Given the description of an element on the screen output the (x, y) to click on. 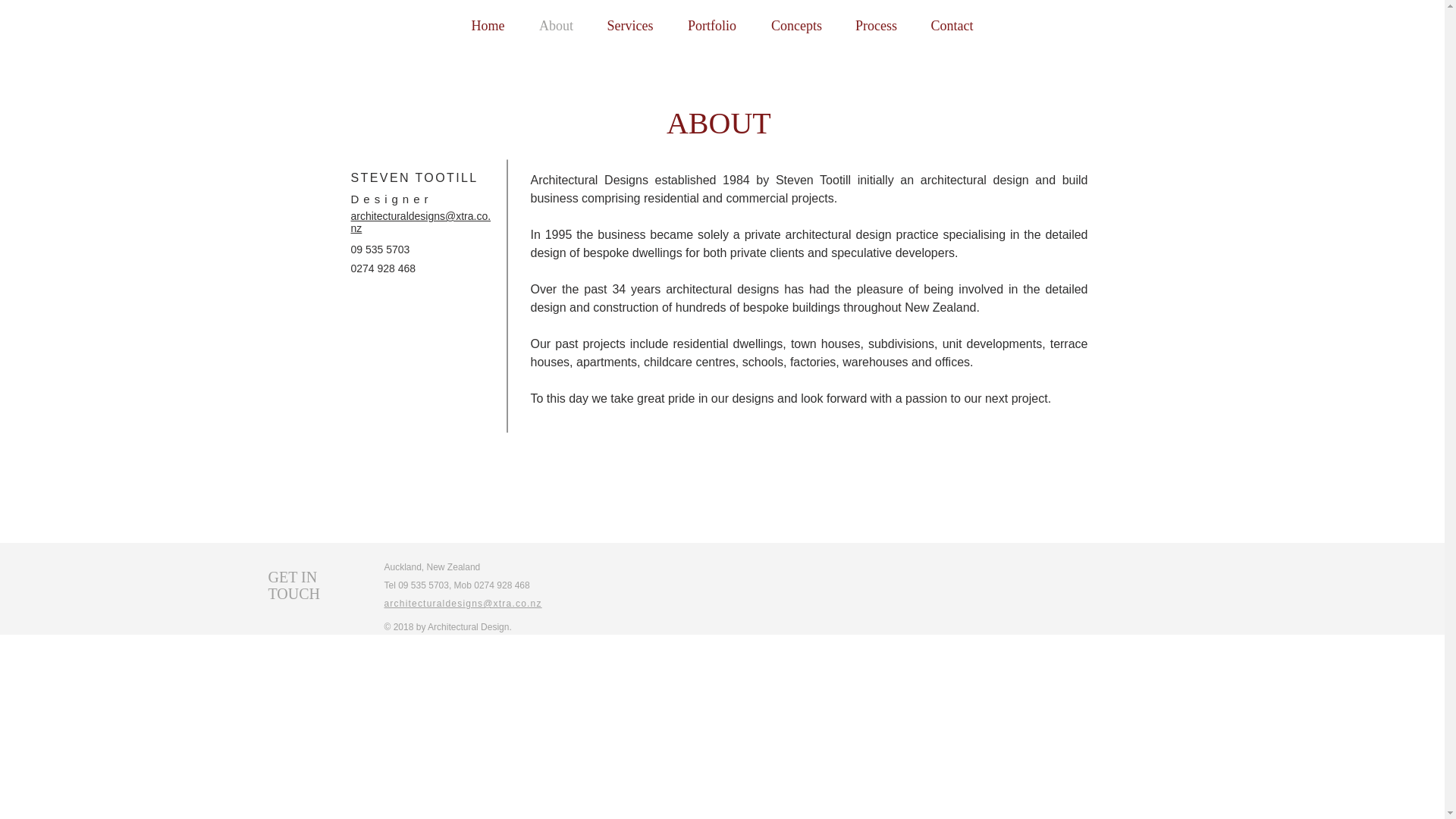
0274 928 468 (382, 268)
Portfolio (711, 25)
Home (486, 25)
09 535 5703 (379, 249)
Services (629, 25)
Process (875, 25)
Contact (951, 25)
About (555, 25)
Concepts (796, 25)
